Given the description of an element on the screen output the (x, y) to click on. 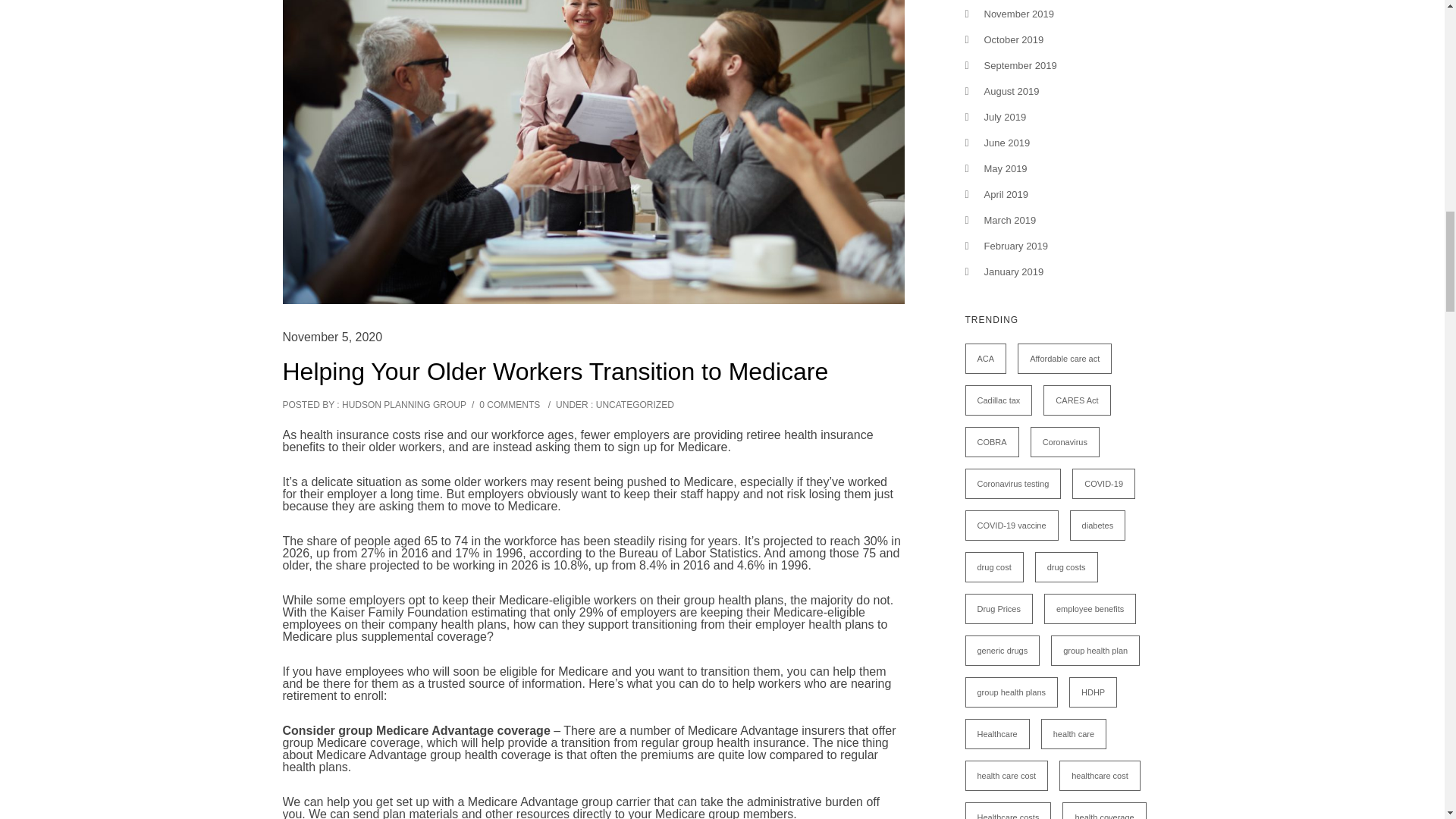
UNCATEGORIZED (632, 404)
0 COMMENTS (509, 404)
Helping Your Older Workers Transition to Medicare (555, 371)
November 5, 2020 (331, 336)
